Given the description of an element on the screen output the (x, y) to click on. 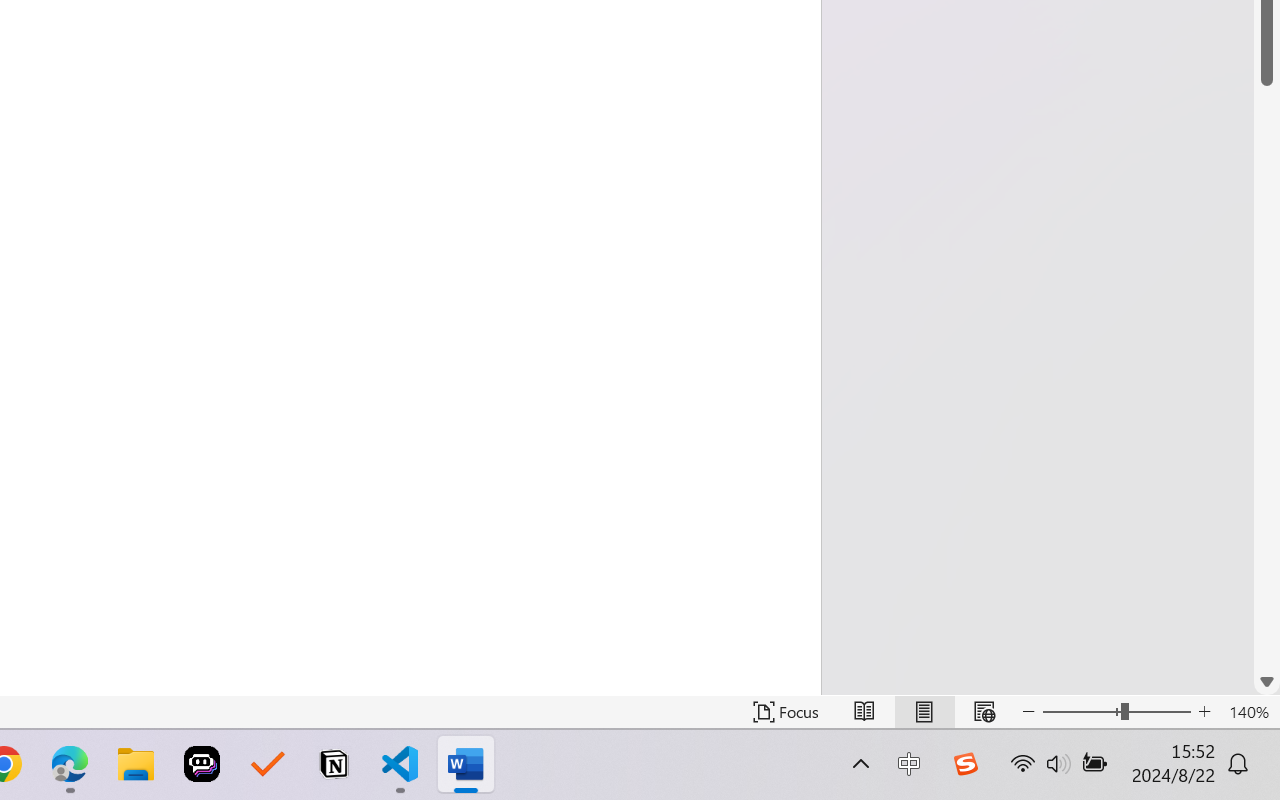
Zoom (1116, 712)
Zoom In (1204, 712)
Zoom Out (1081, 712)
Class: Image (965, 764)
Web Layout (984, 712)
Print Layout (924, 712)
Focus  (786, 712)
Page down (1267, 377)
Line down (1267, 681)
Zoom 140% (1249, 712)
Read Mode (864, 712)
